Given the description of an element on the screen output the (x, y) to click on. 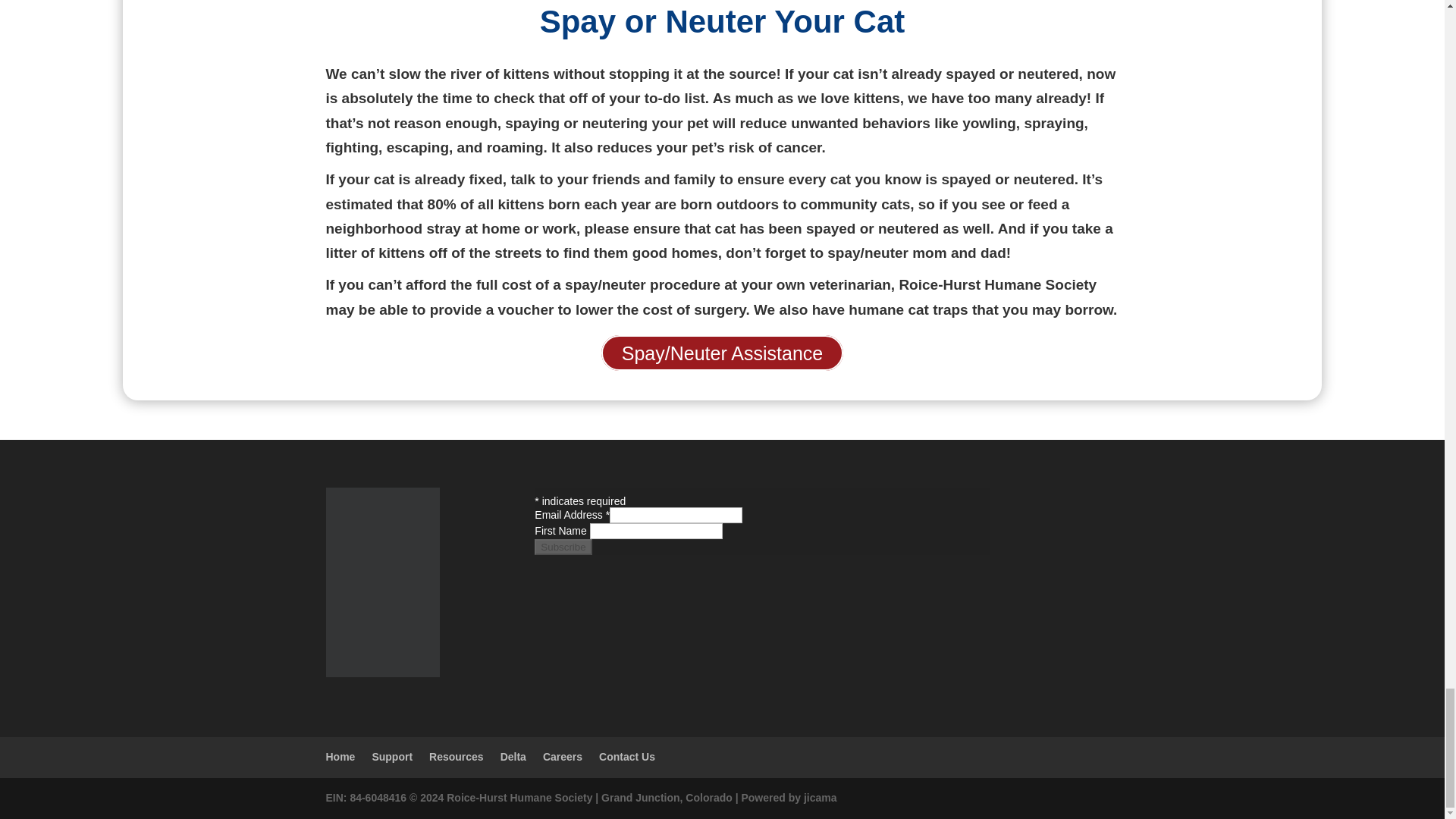
Subscribe (562, 546)
